Given the description of an element on the screen output the (x, y) to click on. 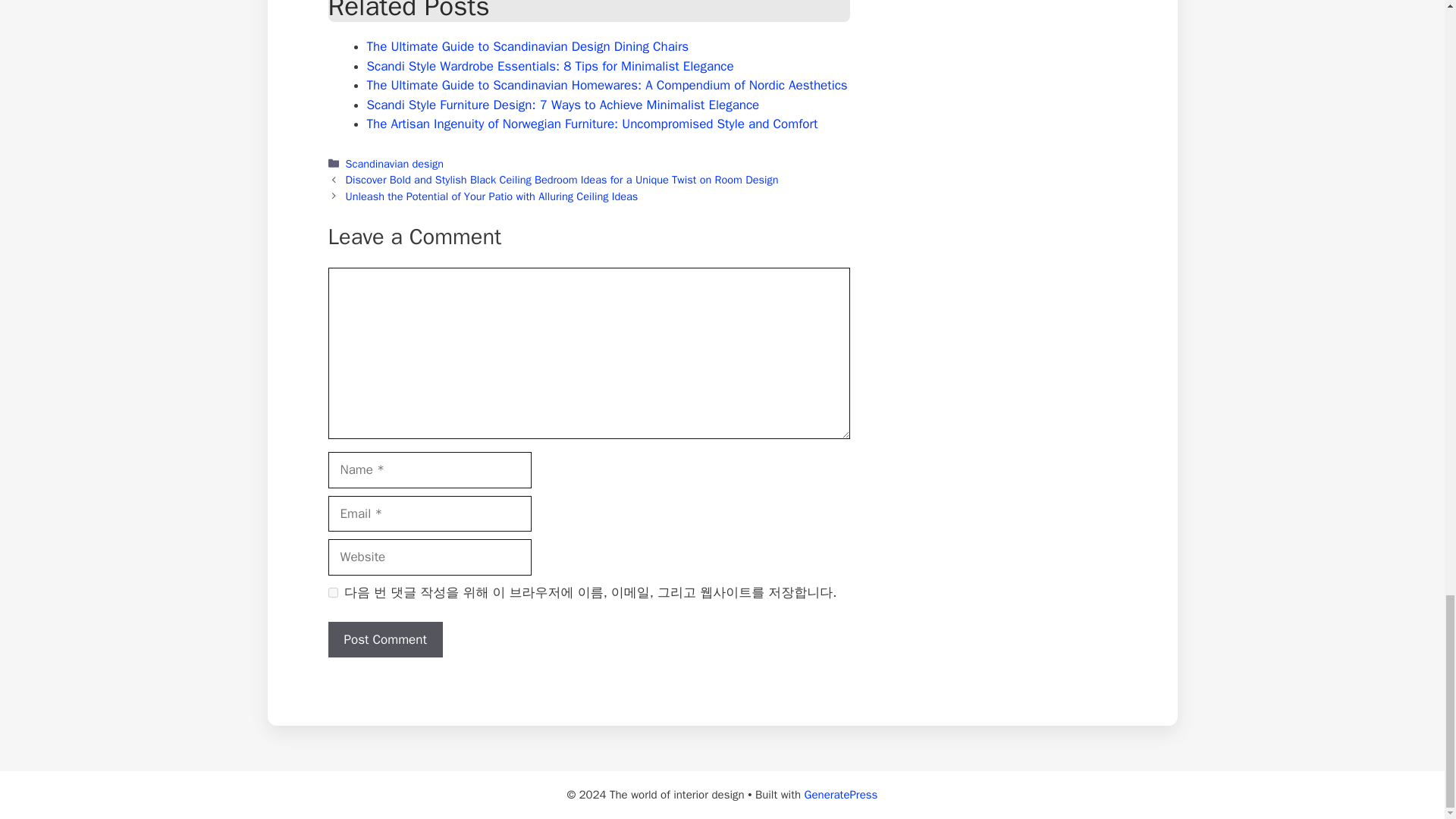
Post Comment (384, 639)
Post Comment (384, 639)
Scandinavian design (395, 163)
The Ultimate Guide to Scandinavian Design Dining Chairs (527, 46)
yes (332, 592)
